Given the description of an element on the screen output the (x, y) to click on. 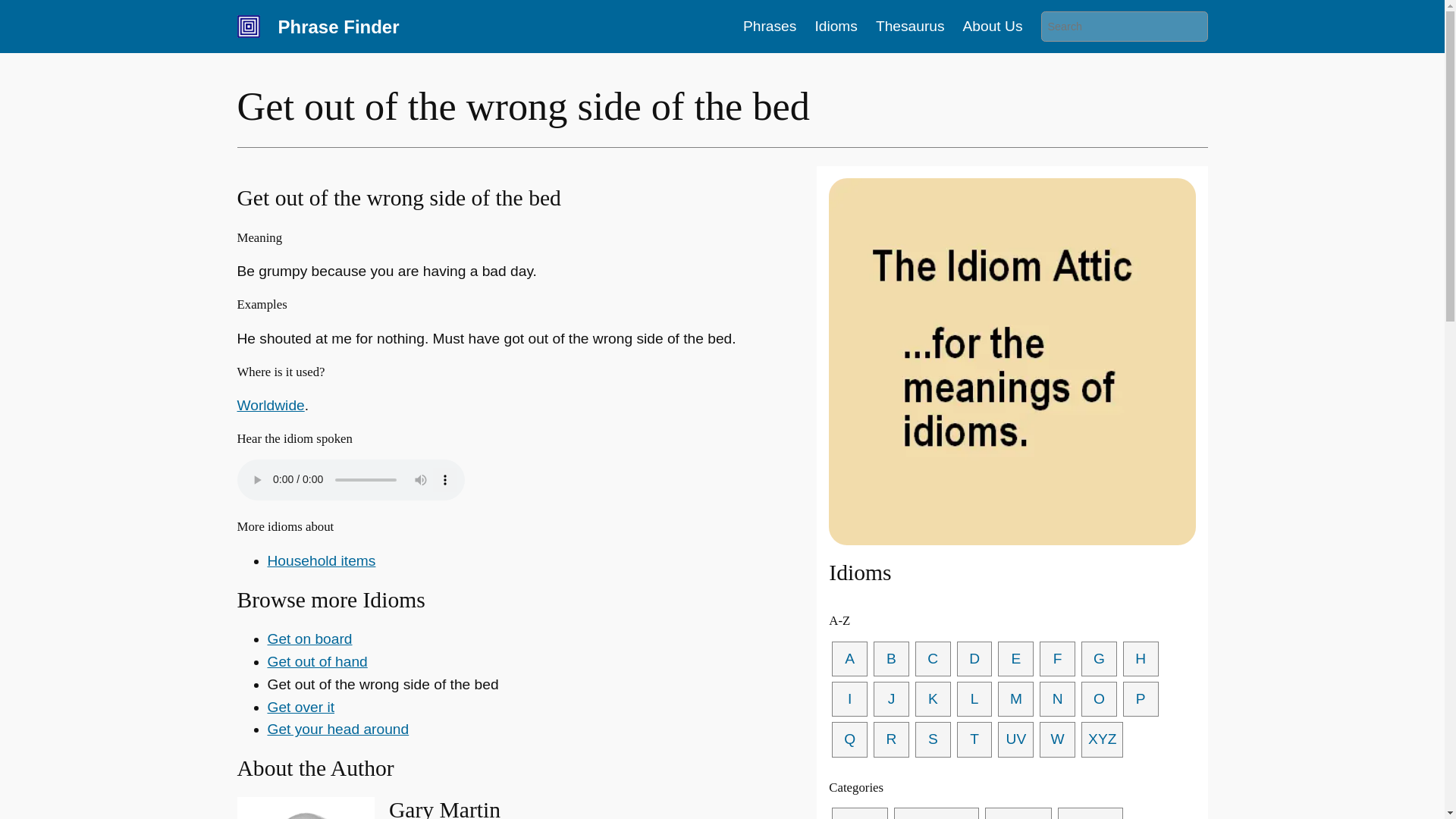
Get out of hand (316, 661)
Q (849, 739)
Get your head around (337, 729)
J (890, 699)
N (1057, 699)
Get your head around (337, 729)
L (974, 699)
Get out of hand (316, 661)
K (932, 699)
Adage (858, 813)
I (849, 699)
E (1015, 659)
D (974, 659)
Idioms (835, 26)
M (1015, 699)
